Given the description of an element on the screen output the (x, y) to click on. 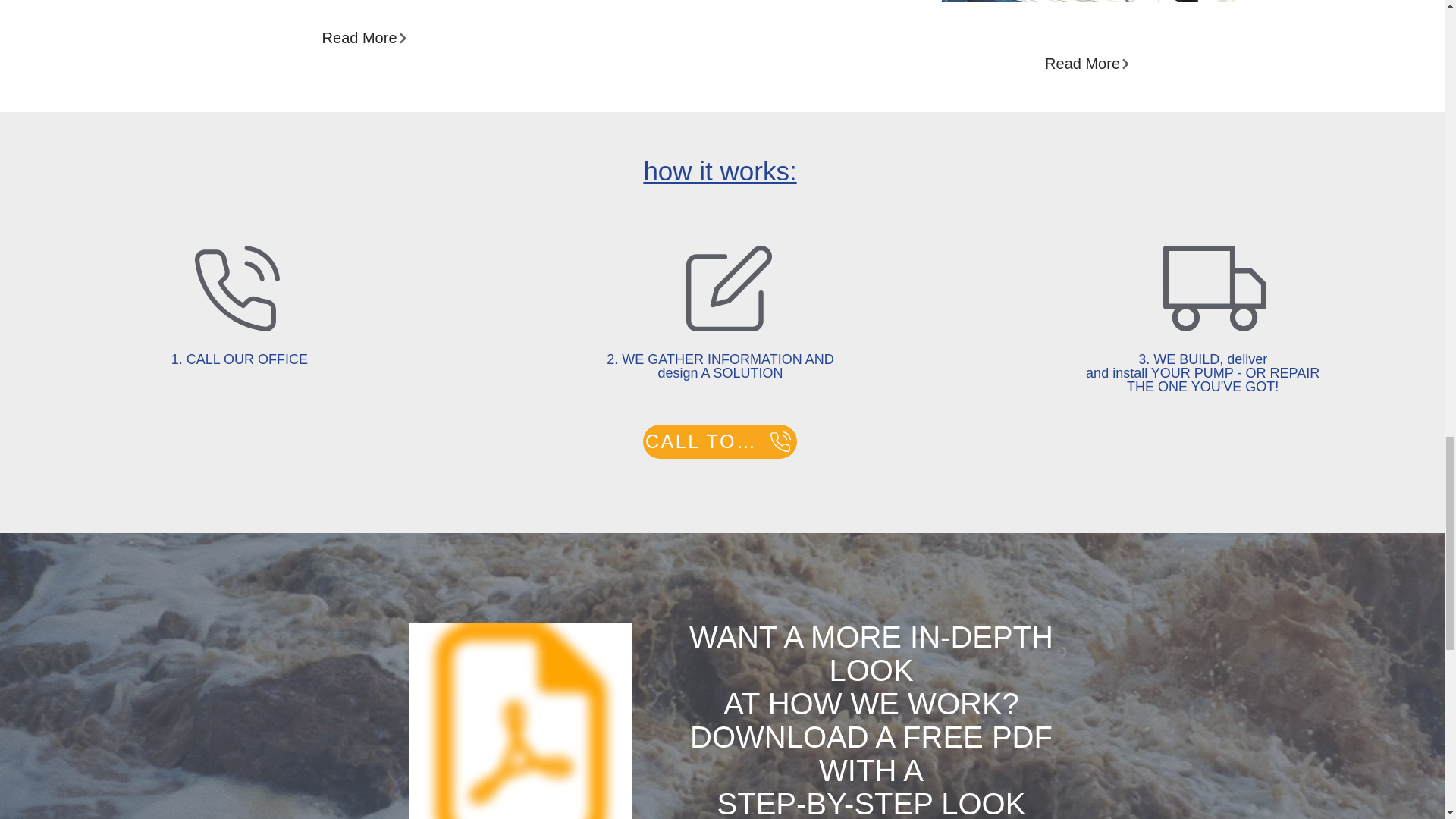
Read More (1087, 63)
CALL TODAY! (719, 441)
Read More (365, 37)
